Given the description of an element on the screen output the (x, y) to click on. 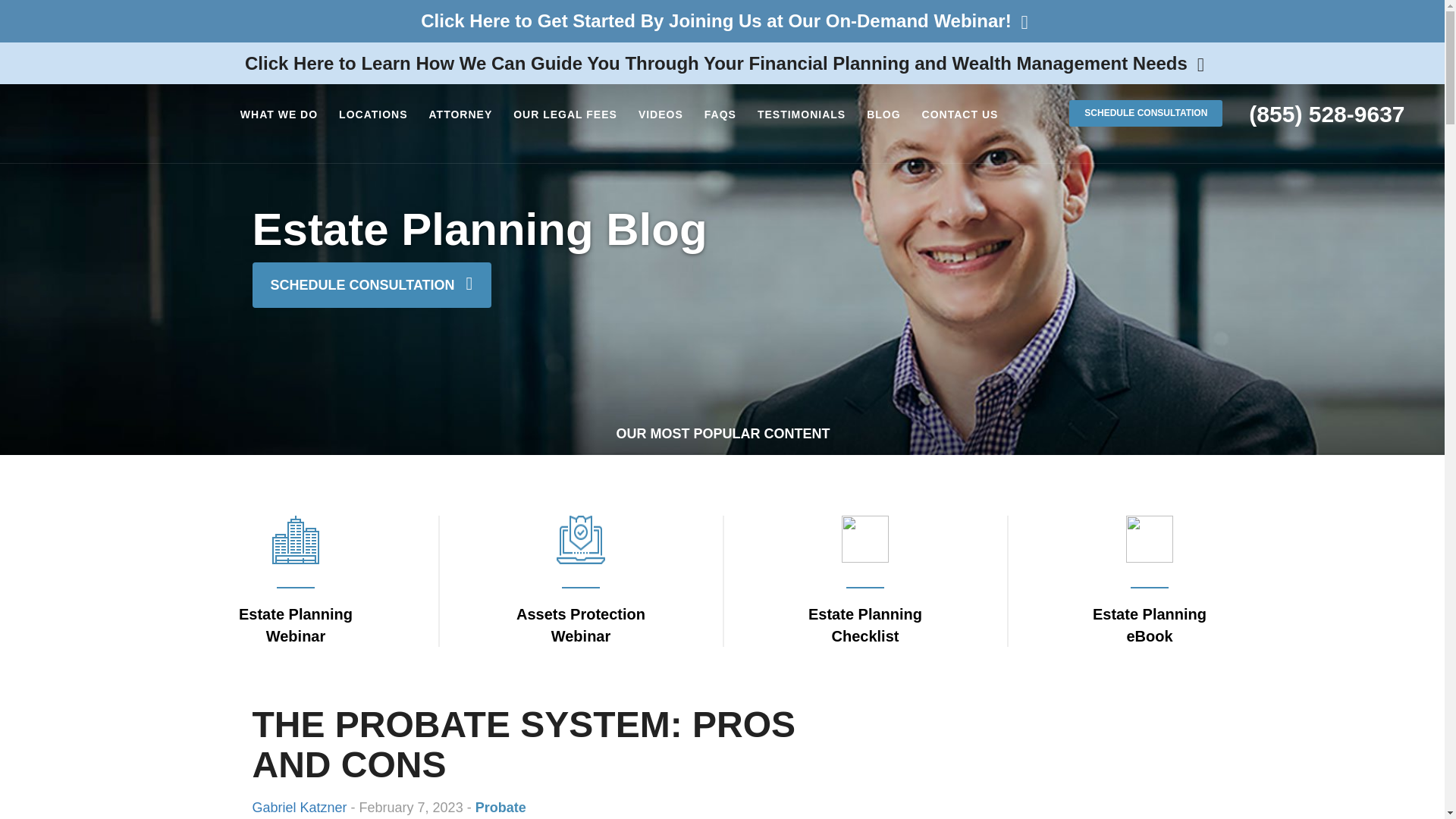
FAQS (720, 114)
Assets Protection Webinar (580, 591)
ATTORNEY (461, 114)
LOCATIONS (373, 114)
TESTIMONIALS (801, 114)
Estate Planning Webinar (295, 591)
SCHEDULE CONSULTATION   (370, 284)
OUR LEGAL FEES (564, 114)
SCHEDULE CONSULTATION (1145, 112)
